Given the description of an element on the screen output the (x, y) to click on. 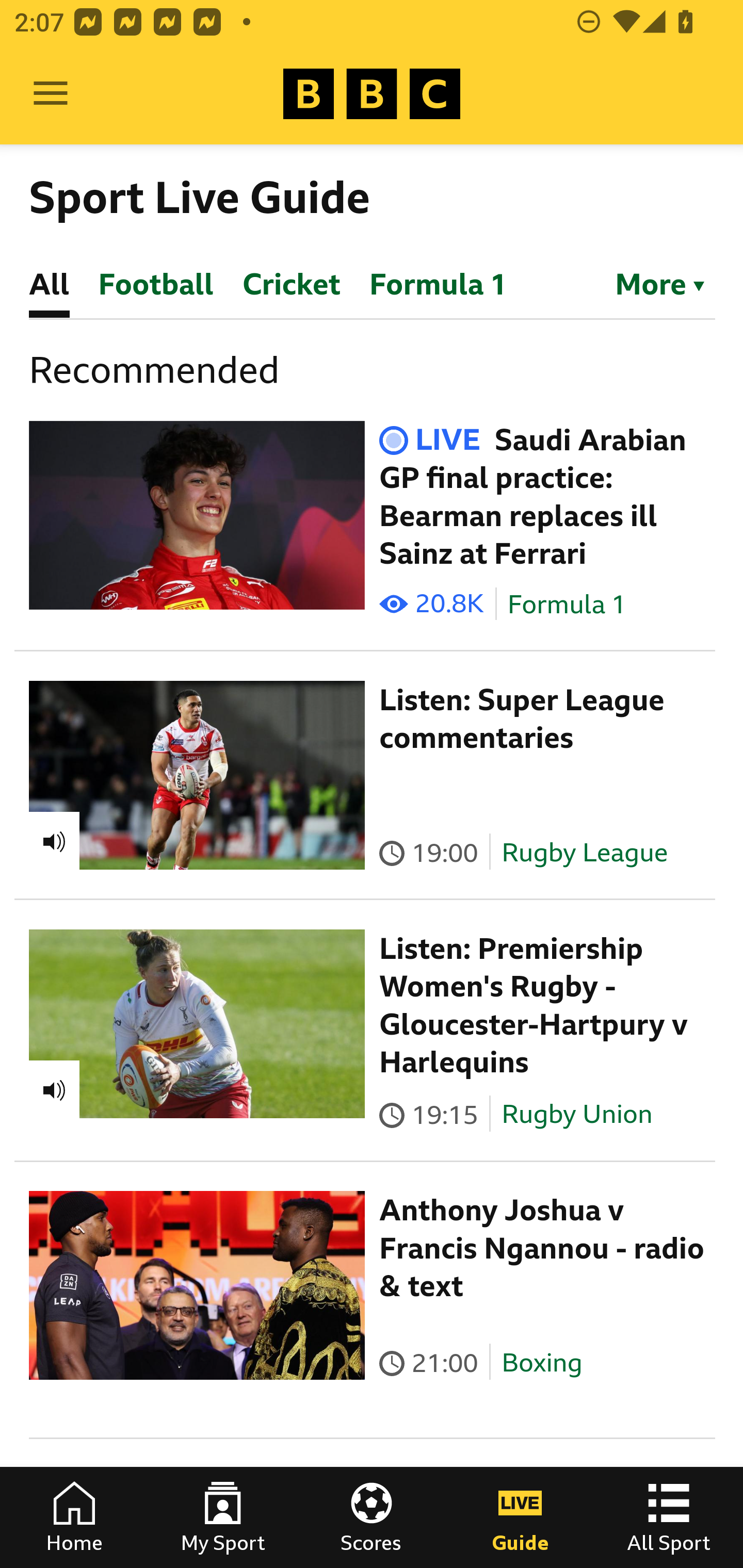
Open Menu (50, 93)
Formula 1 (566, 604)
Listen: Super League commentaries (522, 718)
Rugby League (584, 851)
Rugby Union (576, 1113)
Anthony Joshua v Francis Ngannou - radio & text (541, 1248)
Boxing (541, 1362)
Home (74, 1517)
My Sport (222, 1517)
Scores (371, 1517)
All Sport (668, 1517)
